Given the description of an element on the screen output the (x, y) to click on. 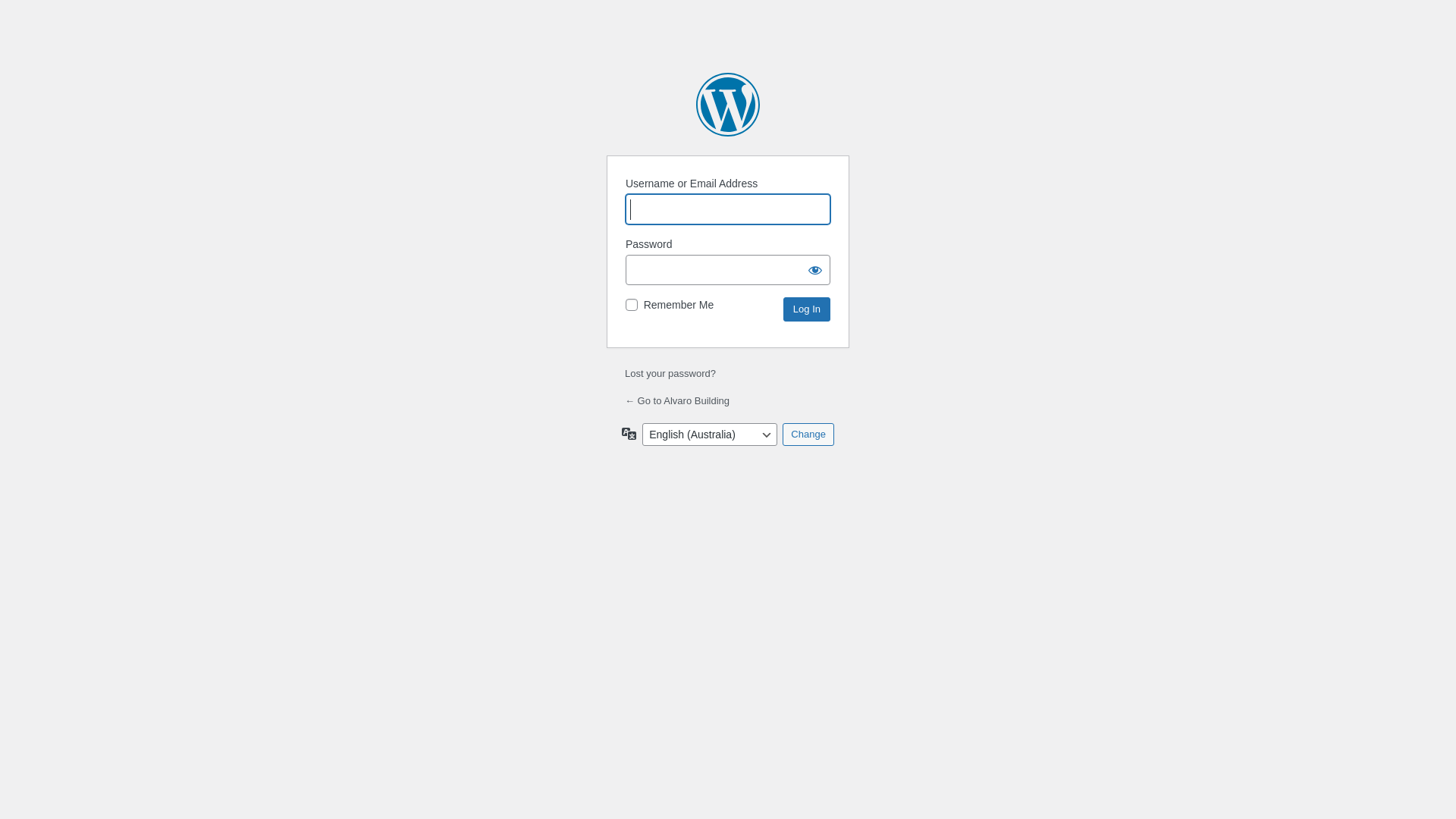
Powered by WordPress Element type: text (727, 104)
Lost your password? Element type: text (669, 373)
Change Element type: text (808, 434)
Log In Element type: text (806, 309)
